Given the description of an element on the screen output the (x, y) to click on. 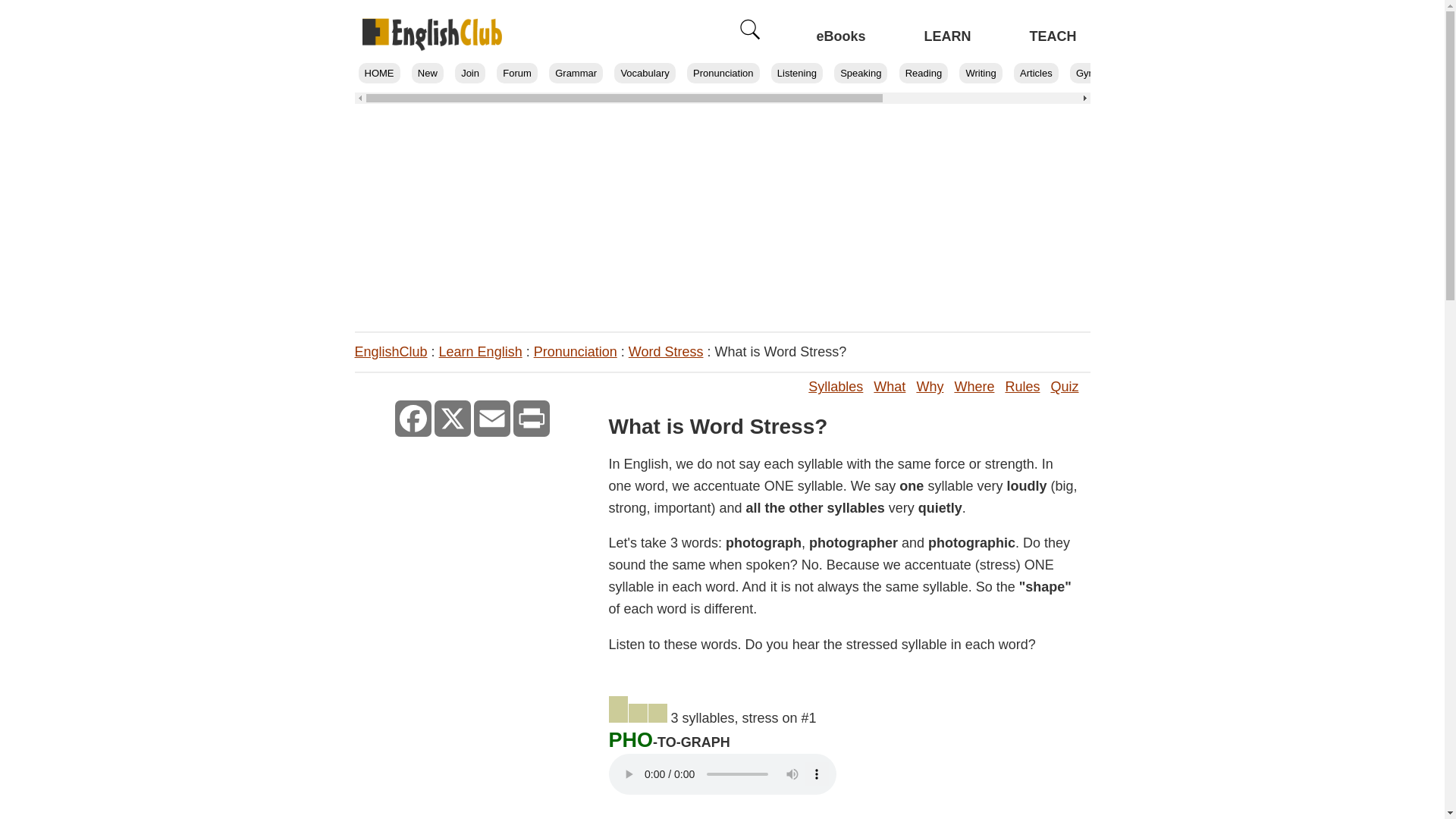
Forum (516, 73)
Word Stress (665, 351)
Vocabulary (644, 73)
EnglishClub (378, 73)
Join (469, 73)
X (451, 418)
Go to EnglishClub homepage (432, 34)
Pronunciation (575, 351)
EnglishClub (391, 351)
Subscribe to EnglishClub newsletter (469, 73)
